Given the description of an element on the screen output the (x, y) to click on. 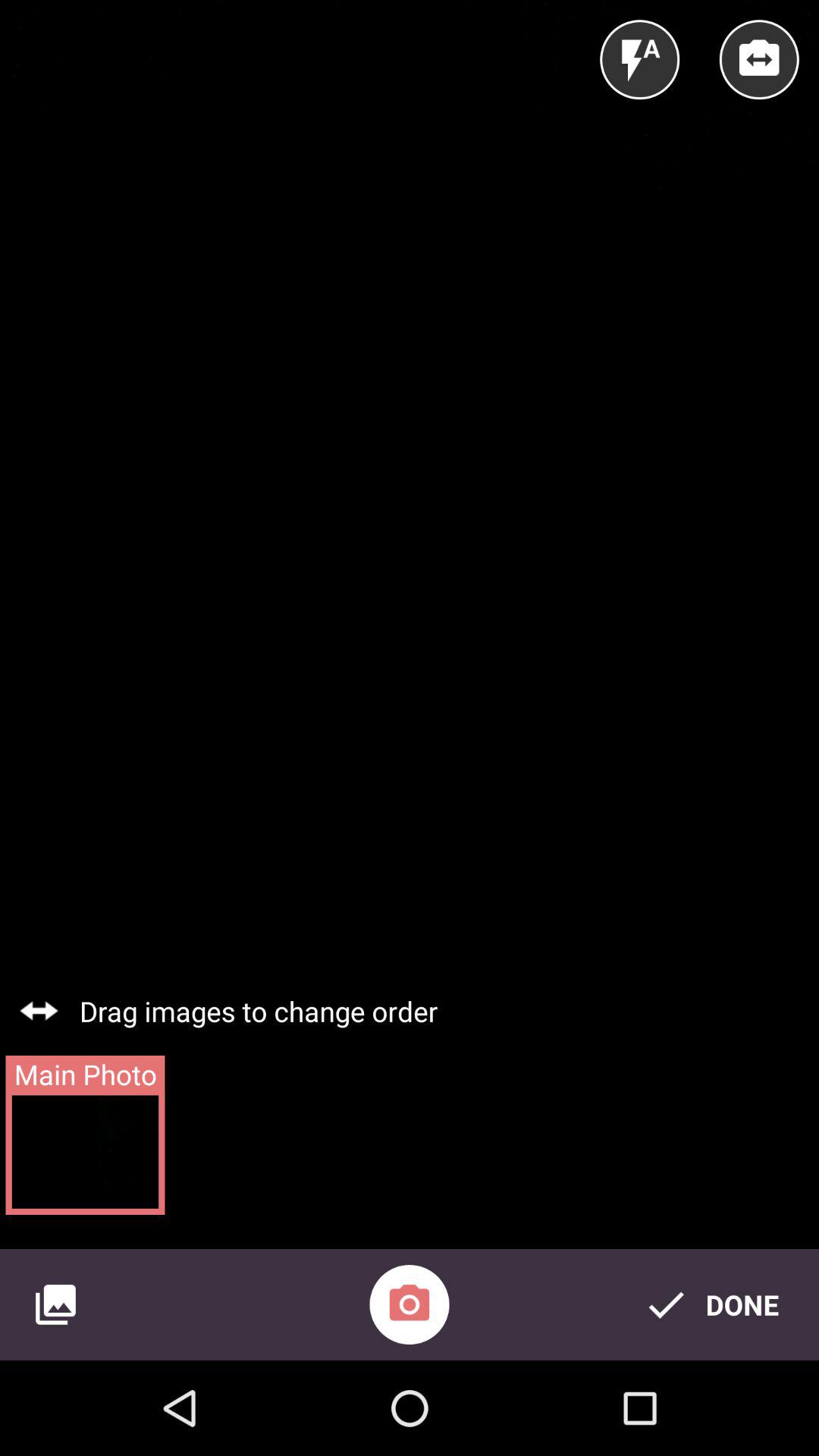
select the item above the drag images to icon (639, 59)
